Given the description of an element on the screen output the (x, y) to click on. 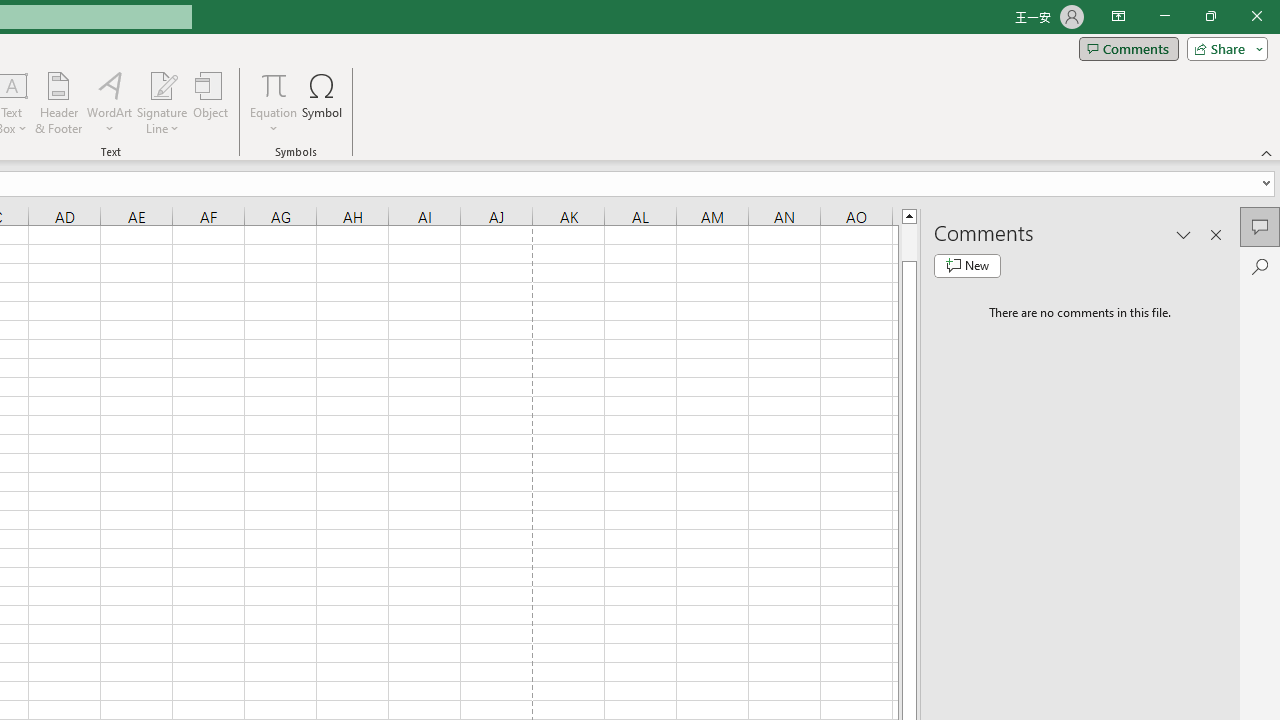
Object... (210, 102)
Symbol... (322, 102)
New comment (967, 265)
Equation (273, 84)
Signature Line (161, 102)
Page up (909, 241)
Header & Footer... (58, 102)
